Given the description of an element on the screen output the (x, y) to click on. 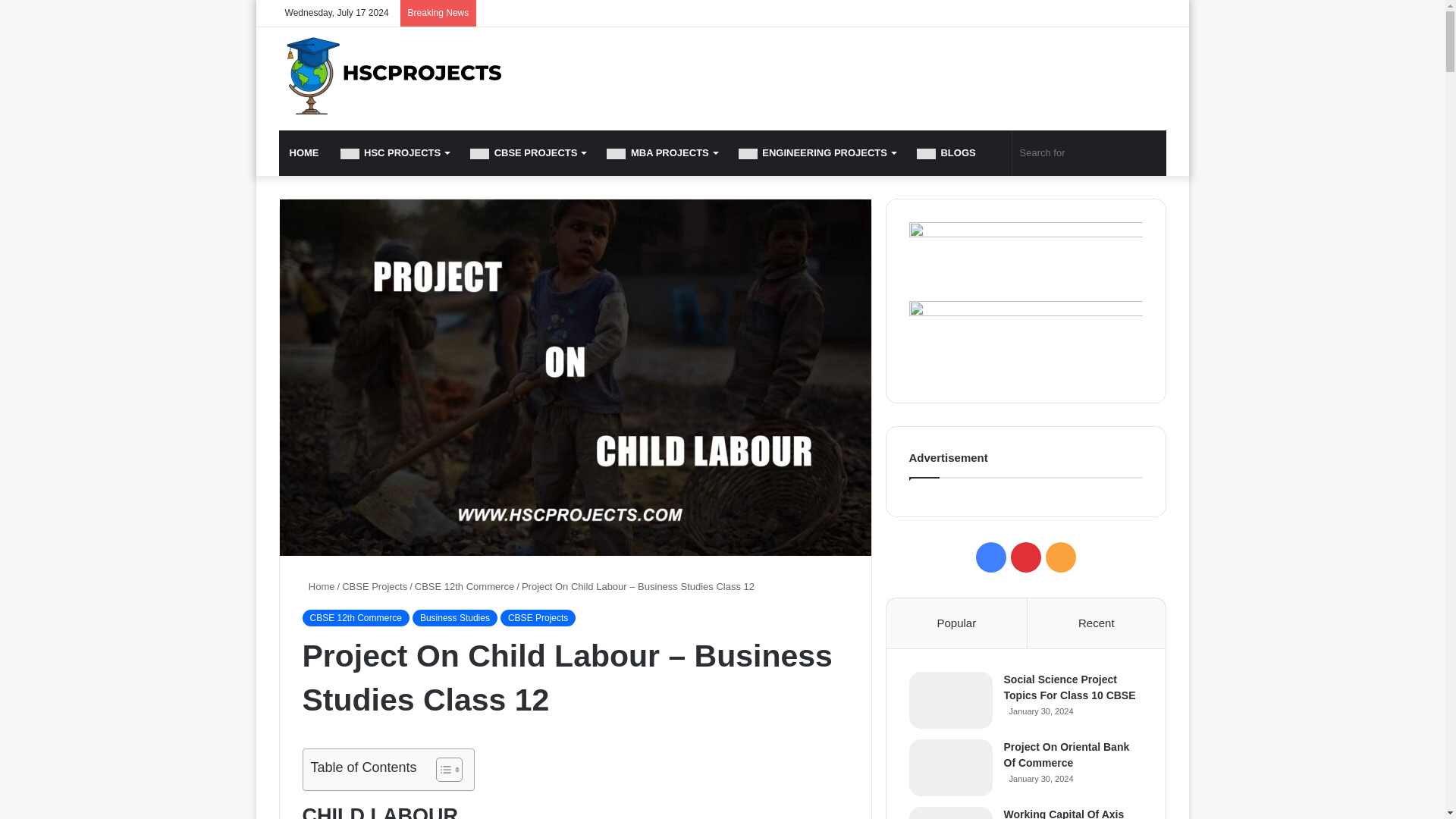
HSC Projects (390, 76)
Random Article (1154, 13)
Random Article (1154, 13)
HOME (304, 153)
HSC PROJECTS (394, 153)
Search for (1088, 153)
